Given the description of an element on the screen output the (x, y) to click on. 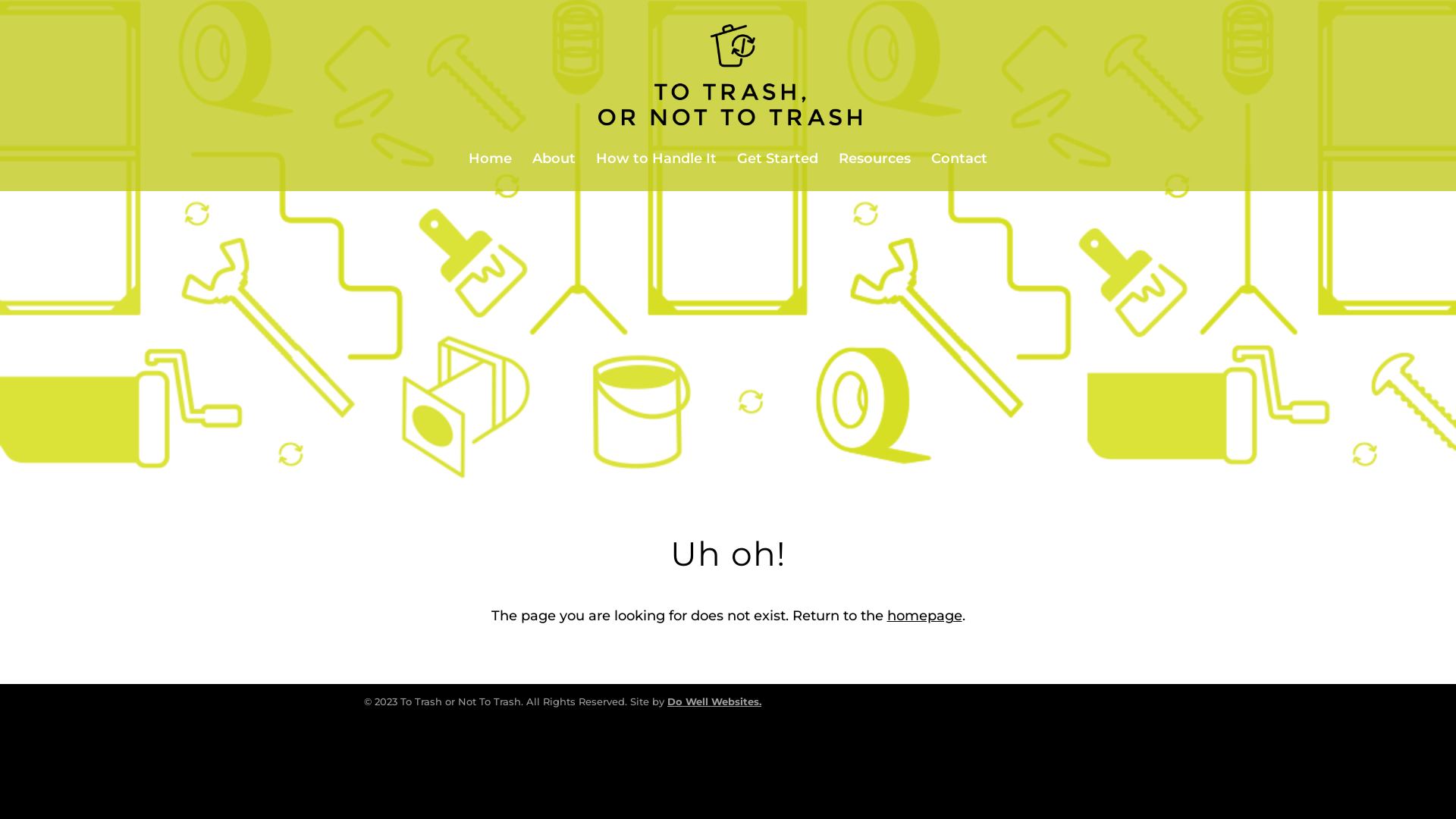
Home Element type: text (489, 172)
Resources Element type: text (874, 172)
Do Well Websites. Element type: text (714, 701)
How to Handle It Element type: text (656, 172)
Get Started Element type: text (777, 172)
About Element type: text (553, 172)
homepage Element type: text (924, 615)
Contact Element type: text (959, 172)
